Given the description of an element on the screen output the (x, y) to click on. 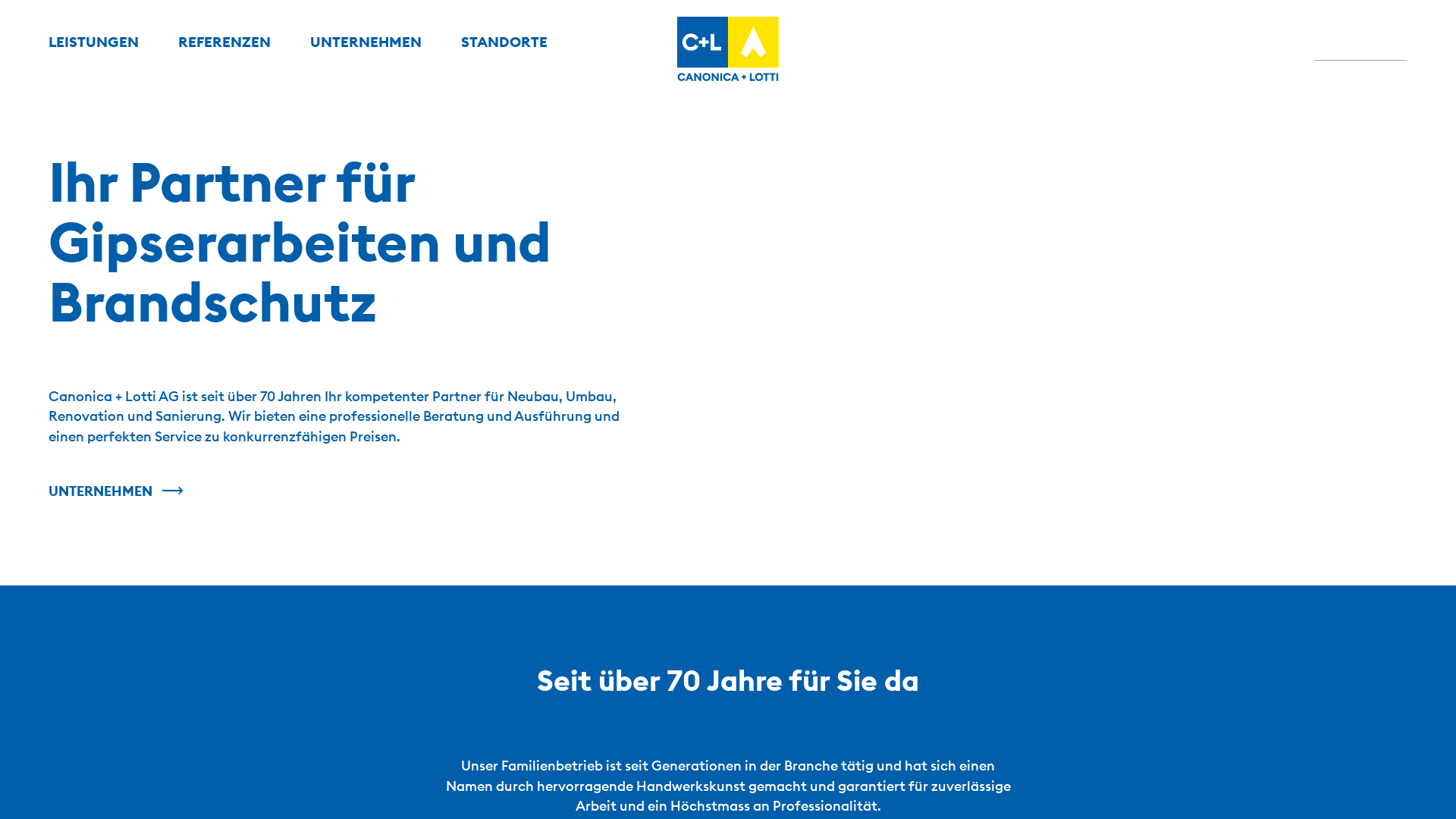
STANDORTE Element type: text (503, 41)
UNTERNEHMEN Element type: text (115, 490)
LEISTUNGEN Element type: text (92, 41)
UNTERNEHMEN Element type: text (365, 41)
KONTAKT Element type: text (1359, 41)
REFERENZEN Element type: text (223, 41)
